Given the description of an element on the screen output the (x, y) to click on. 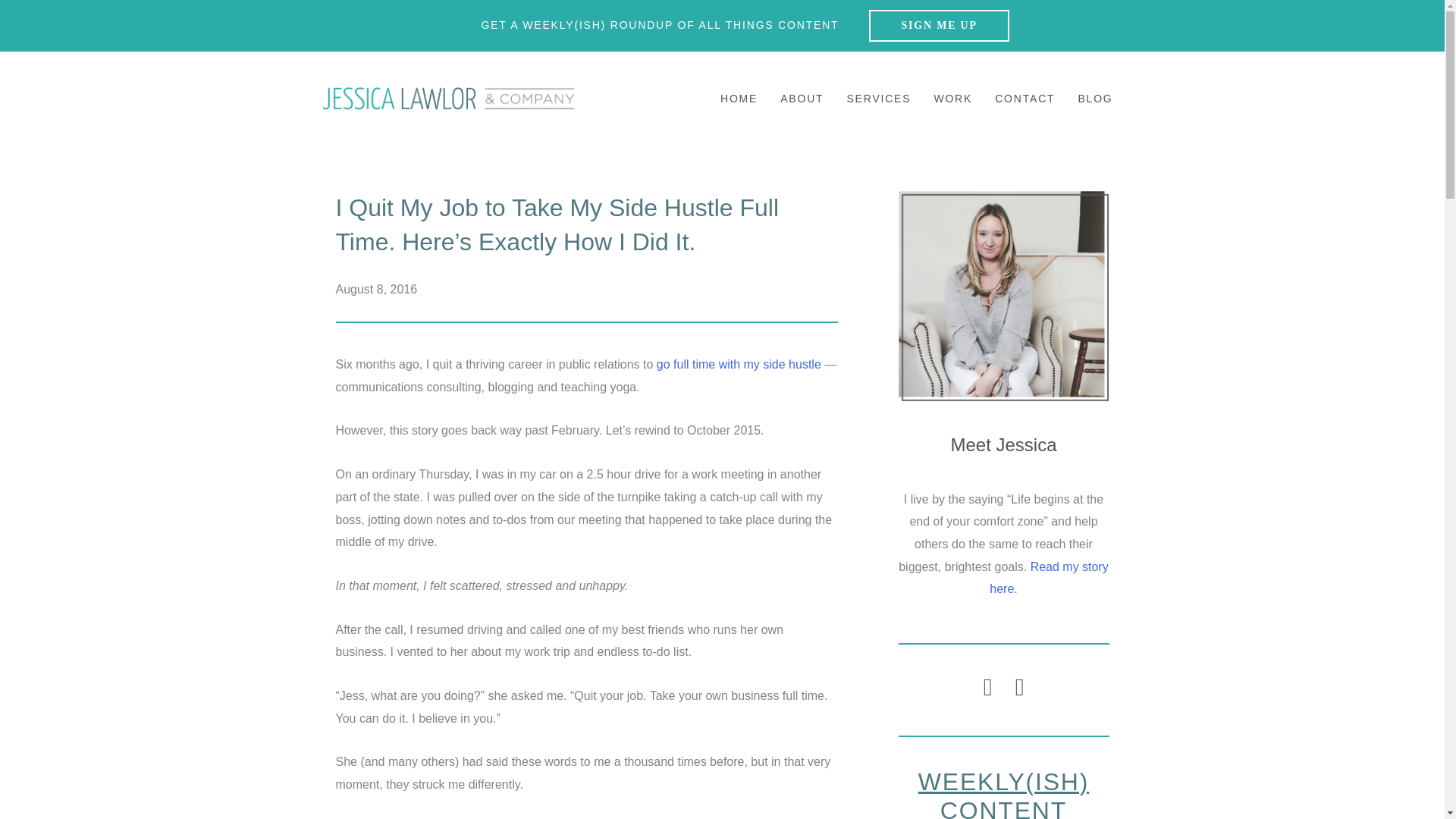
HOME (739, 98)
SIGN ME UP (939, 25)
SERVICES (878, 98)
Read my story here. (1049, 578)
WORK (952, 98)
BLOG (1094, 98)
CONTACT (1024, 98)
ABOUT (802, 98)
go full time with my side hustle (738, 364)
